Given the description of an element on the screen output the (x, y) to click on. 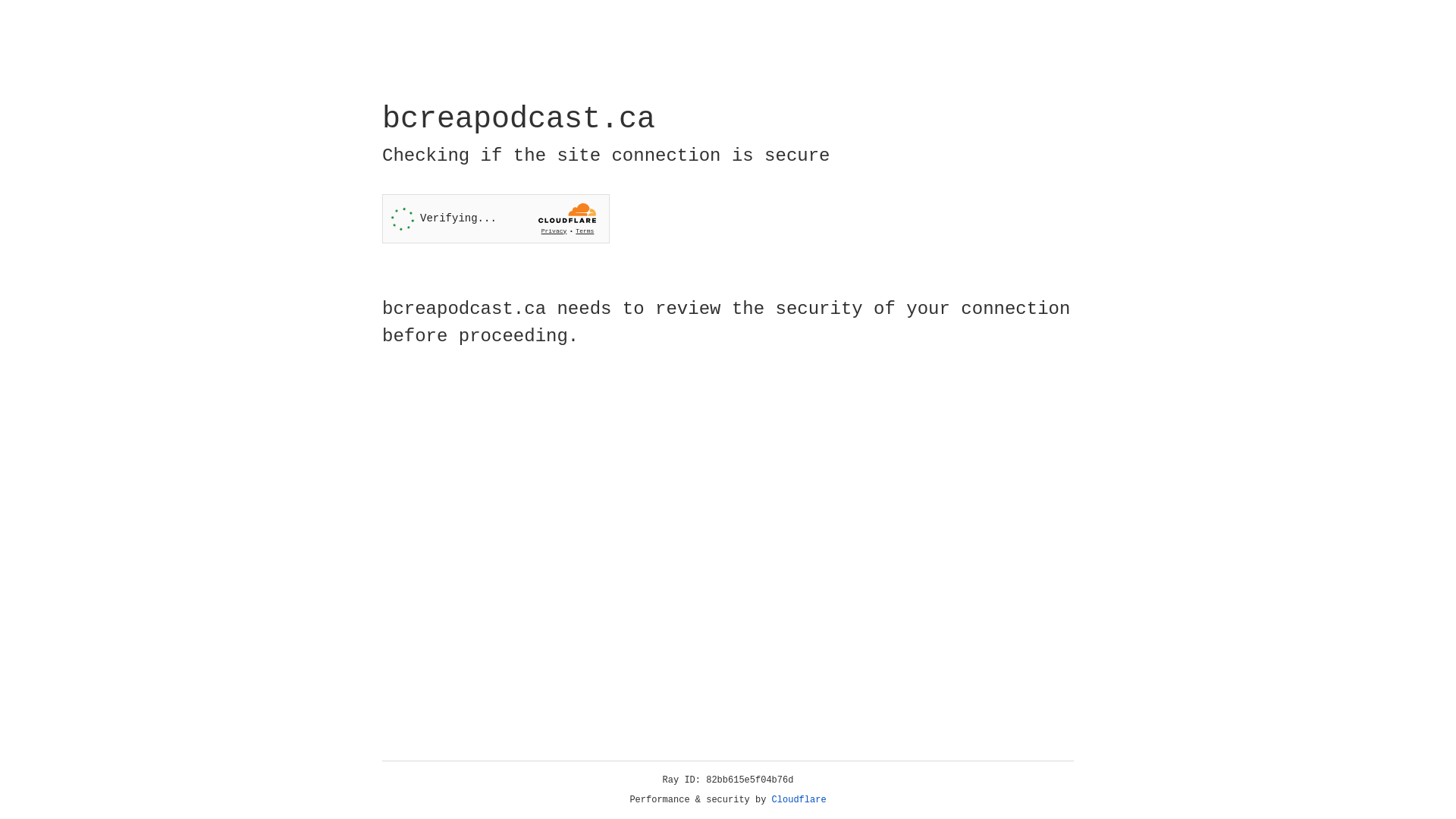
Widget containing a Cloudflare security challenge Element type: hover (495, 218)
Cloudflare Element type: text (798, 799)
